Given the description of an element on the screen output the (x, y) to click on. 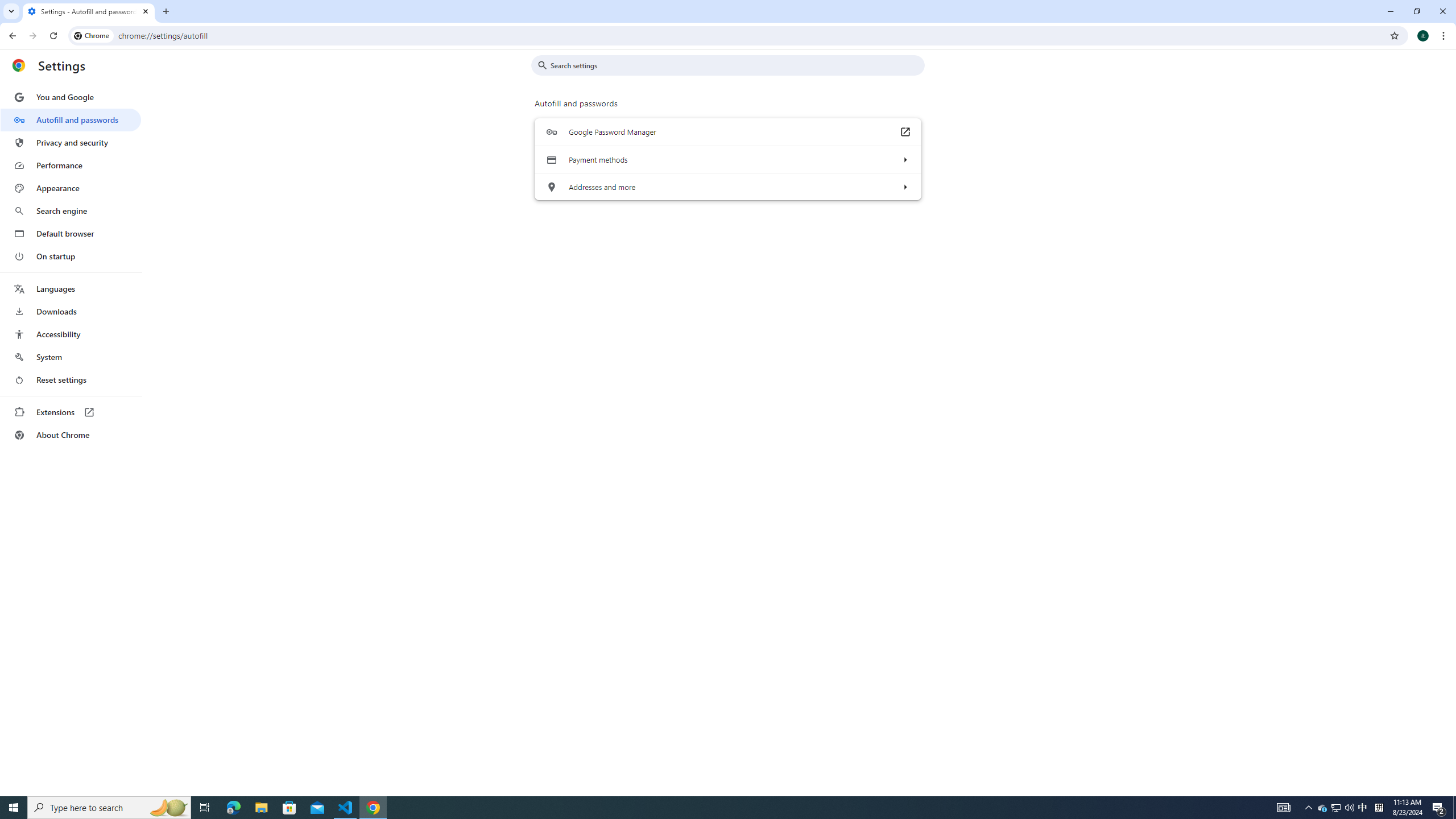
Privacy and security (70, 142)
Settings - Autofill and passwords (88, 11)
Search settings (735, 65)
Addresses and more (904, 186)
Google Password Manager (904, 131)
Languages (70, 288)
Extensions (70, 412)
AutomationID: menu (71, 265)
